Given the description of an element on the screen output the (x, y) to click on. 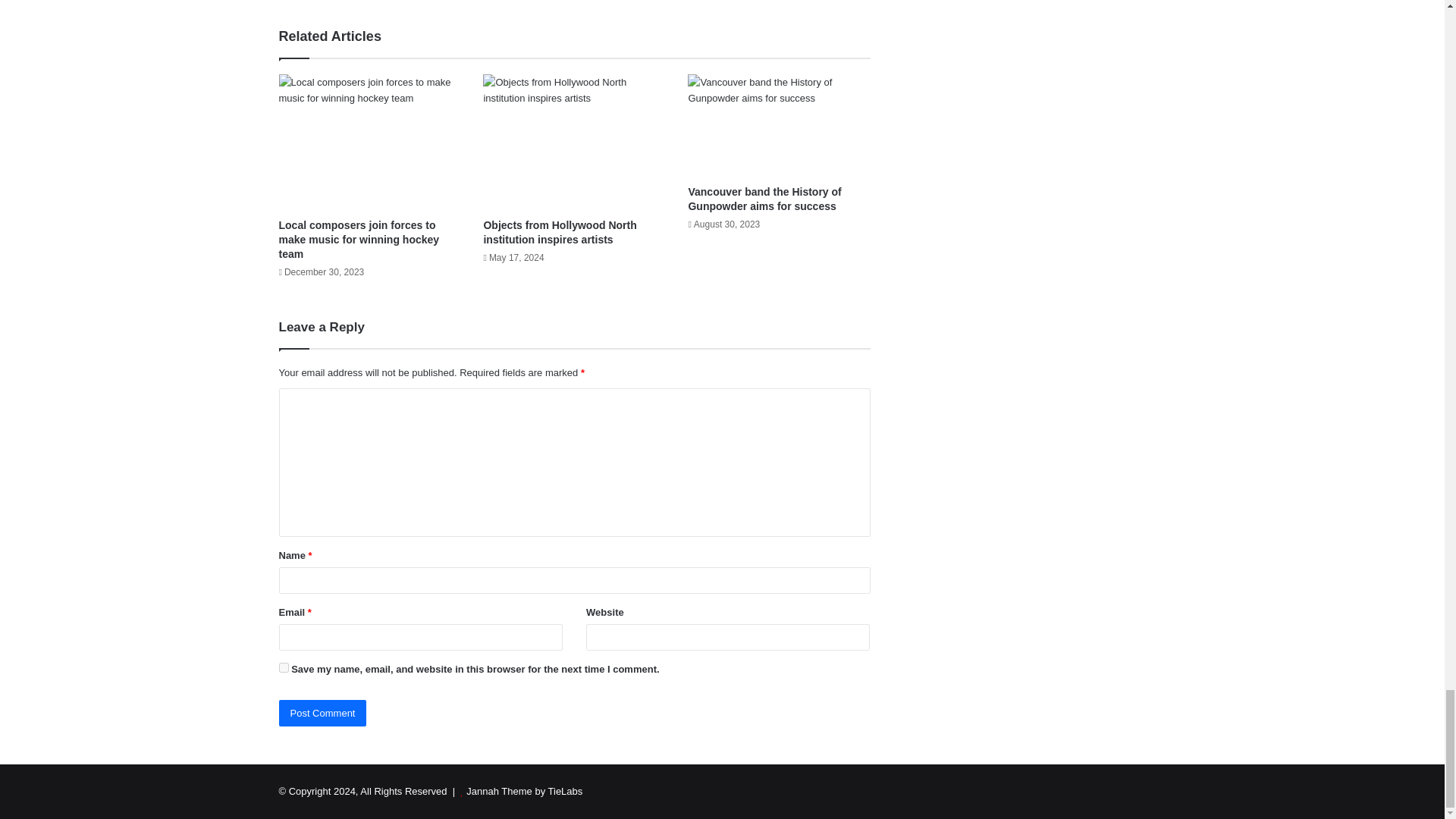
yes (283, 667)
Post Comment (322, 713)
